Given the description of an element on the screen output the (x, y) to click on. 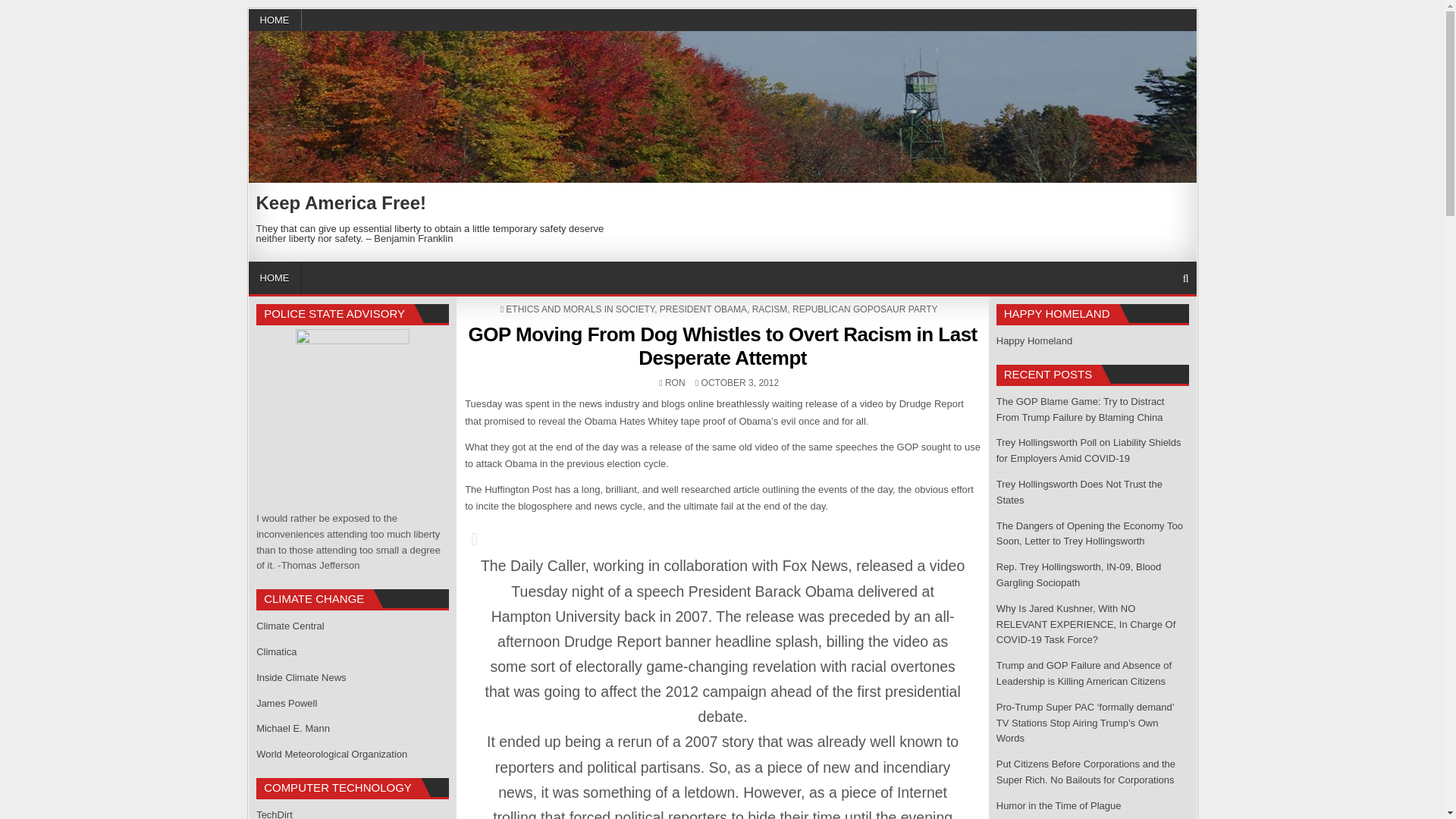
Climatica (276, 651)
PRESIDENT OBAMA (702, 308)
Climate Central (290, 625)
REPUBLICAN GOPOSAUR PARTY (864, 308)
Michael E. Mann (293, 727)
HOME (274, 277)
Inside Climate News (301, 677)
HOME (274, 20)
RACISM (769, 308)
